Given the description of an element on the screen output the (x, y) to click on. 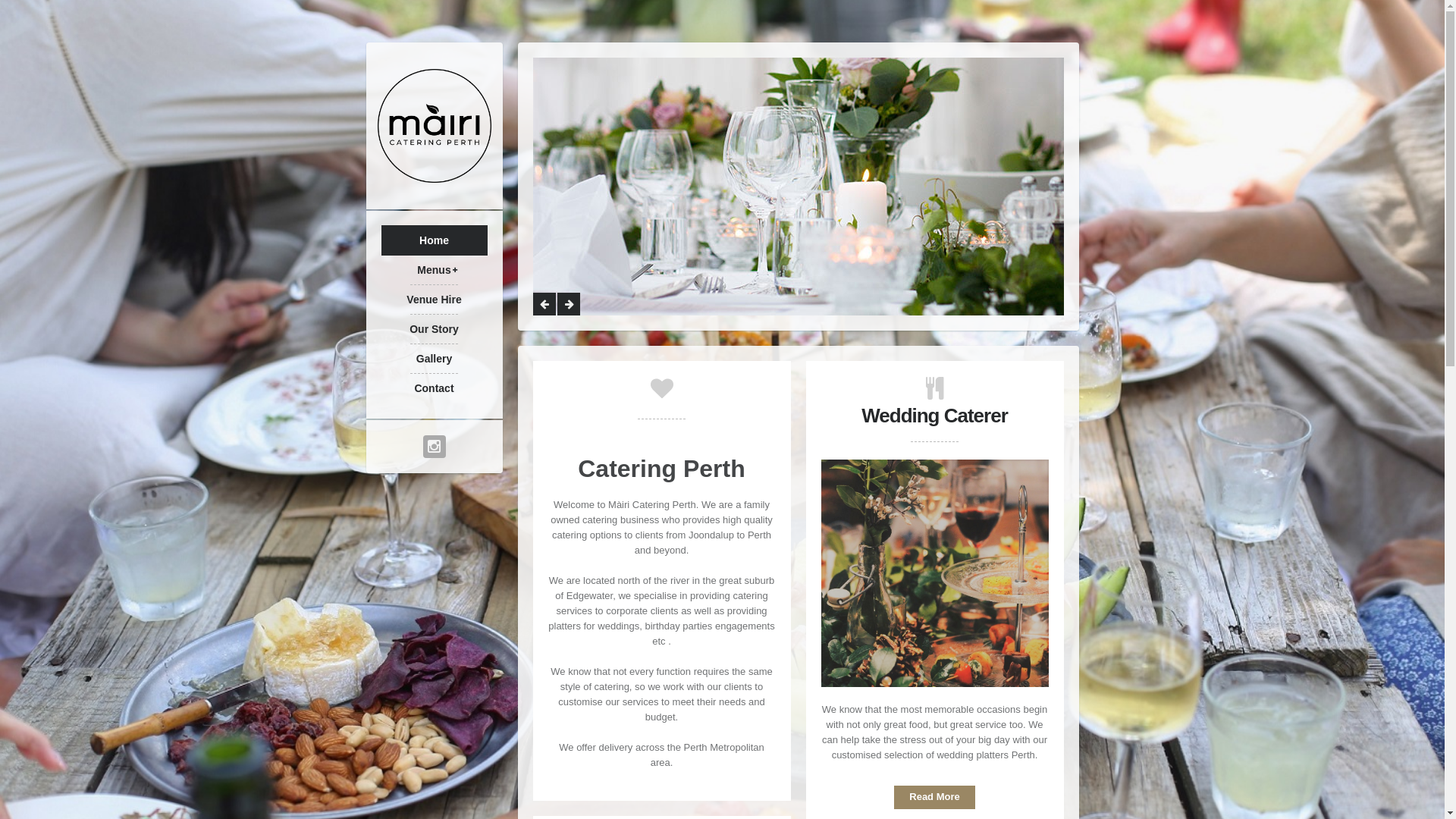
Our Story Element type: text (433, 328)
Read More Element type: text (934, 797)
Menus Element type: text (433, 269)
Contact Element type: text (433, 388)
Gallery Element type: text (433, 358)
Home Element type: text (433, 240)
Venue Hire Element type: text (433, 299)
